Given the description of an element on the screen output the (x, y) to click on. 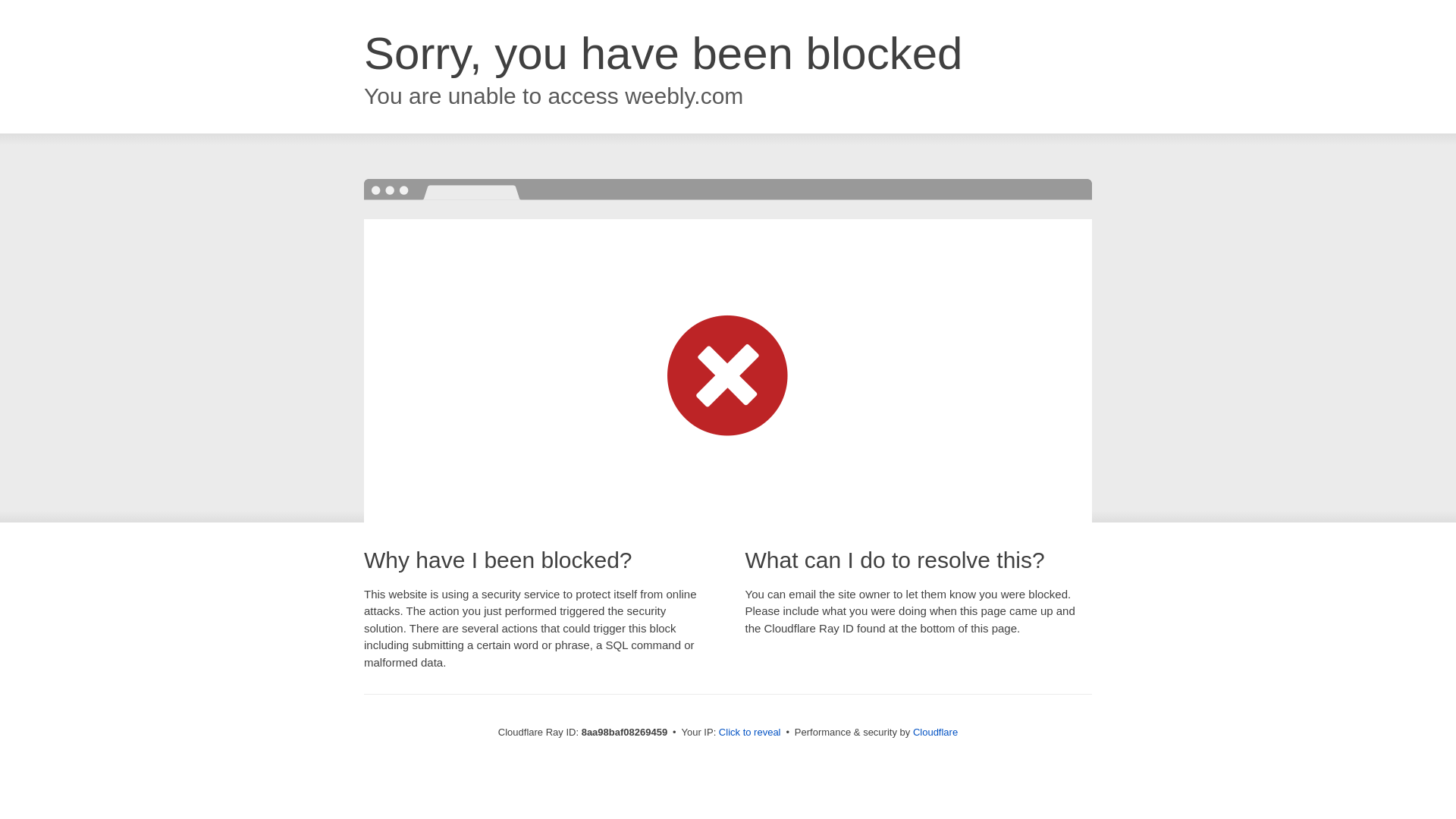
Cloudflare (935, 731)
Click to reveal (749, 732)
